Given the description of an element on the screen output the (x, y) to click on. 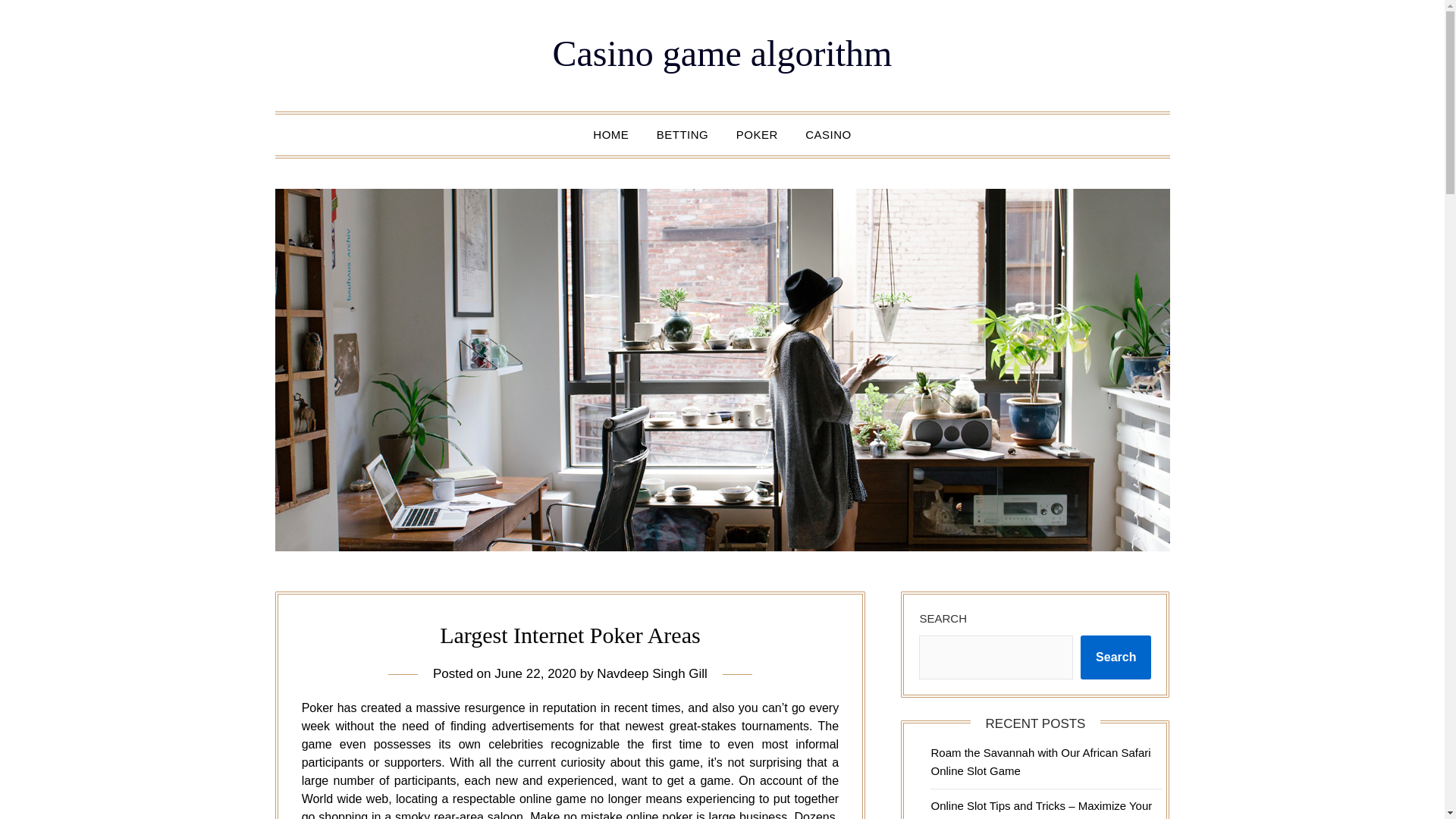
Casino game algorithm (722, 53)
HOME (610, 134)
Search (1115, 657)
BETTING (682, 134)
June 22, 2020 (535, 673)
CASINO (828, 134)
Roam the Savannah with Our African Safari Online Slot Game (1040, 761)
Navdeep Singh Gill (651, 673)
POKER (756, 134)
